Given the description of an element on the screen output the (x, y) to click on. 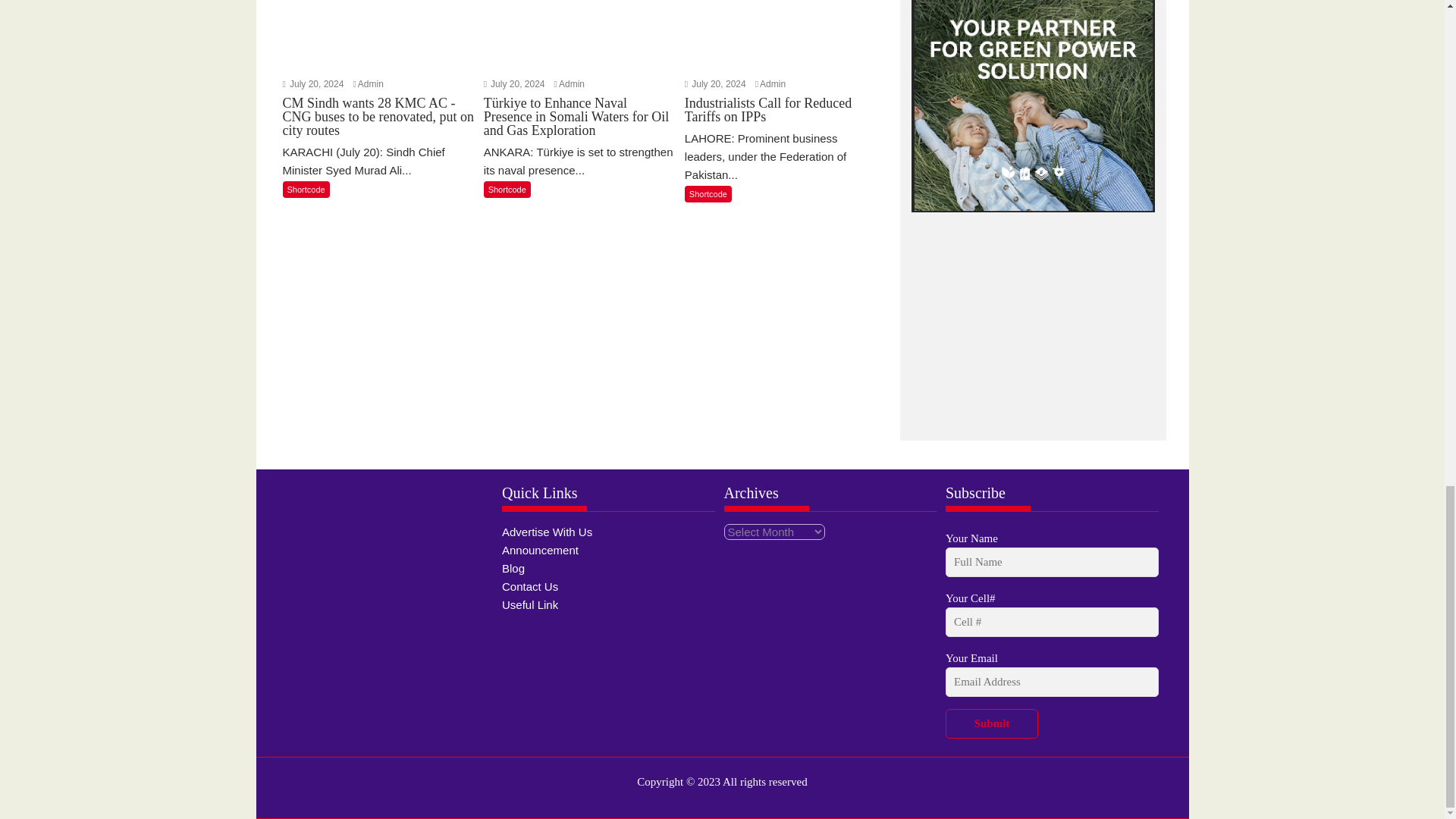
Admin (572, 83)
Admin (773, 83)
Submit (991, 723)
Admin (371, 83)
